Given the description of an element on the screen output the (x, y) to click on. 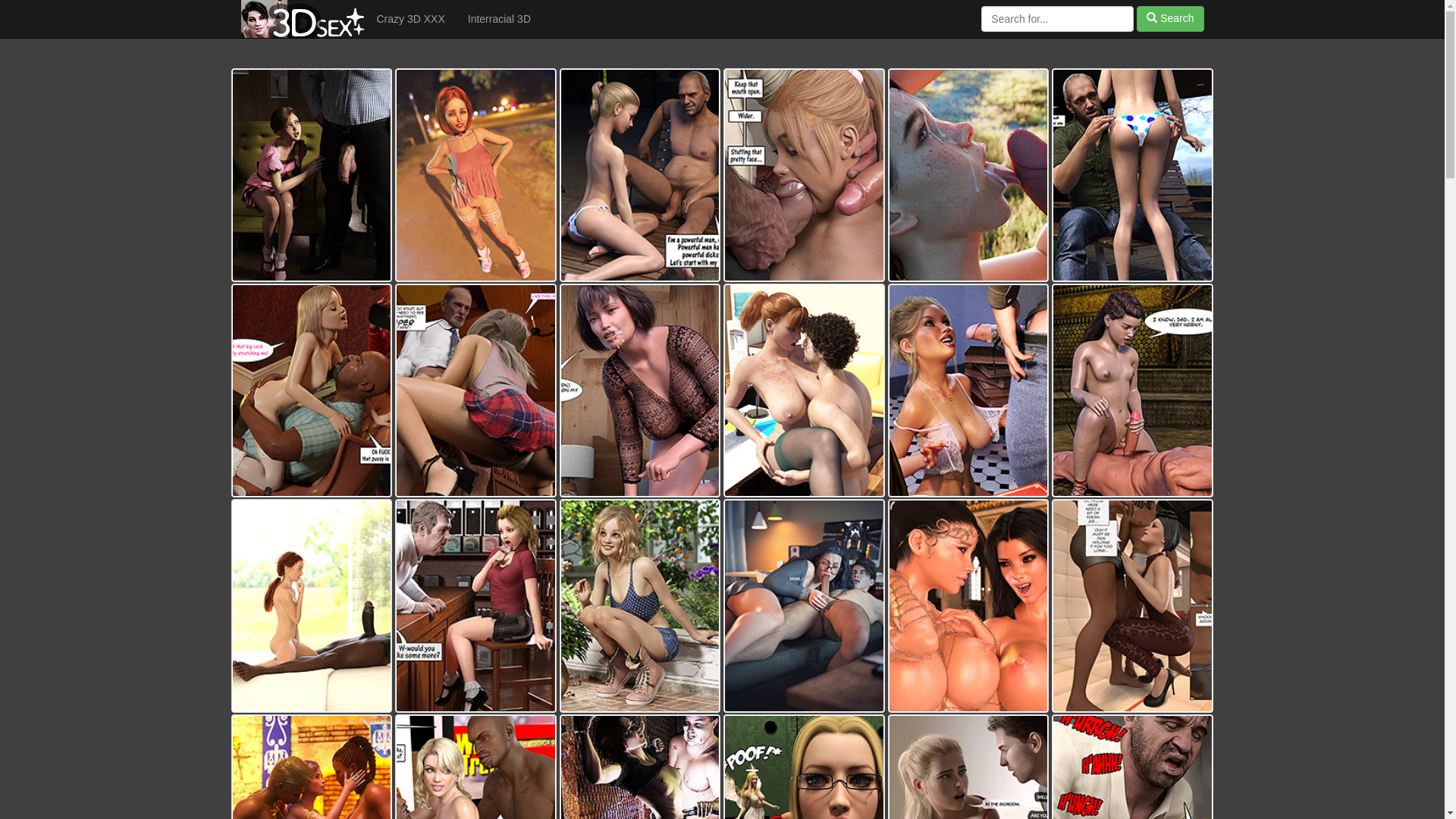
Crazy 3D XXX Element type: text (410, 18)
Search Element type: text (1169, 18)
Interracial 3D Element type: text (499, 18)
